Given the description of an element on the screen output the (x, y) to click on. 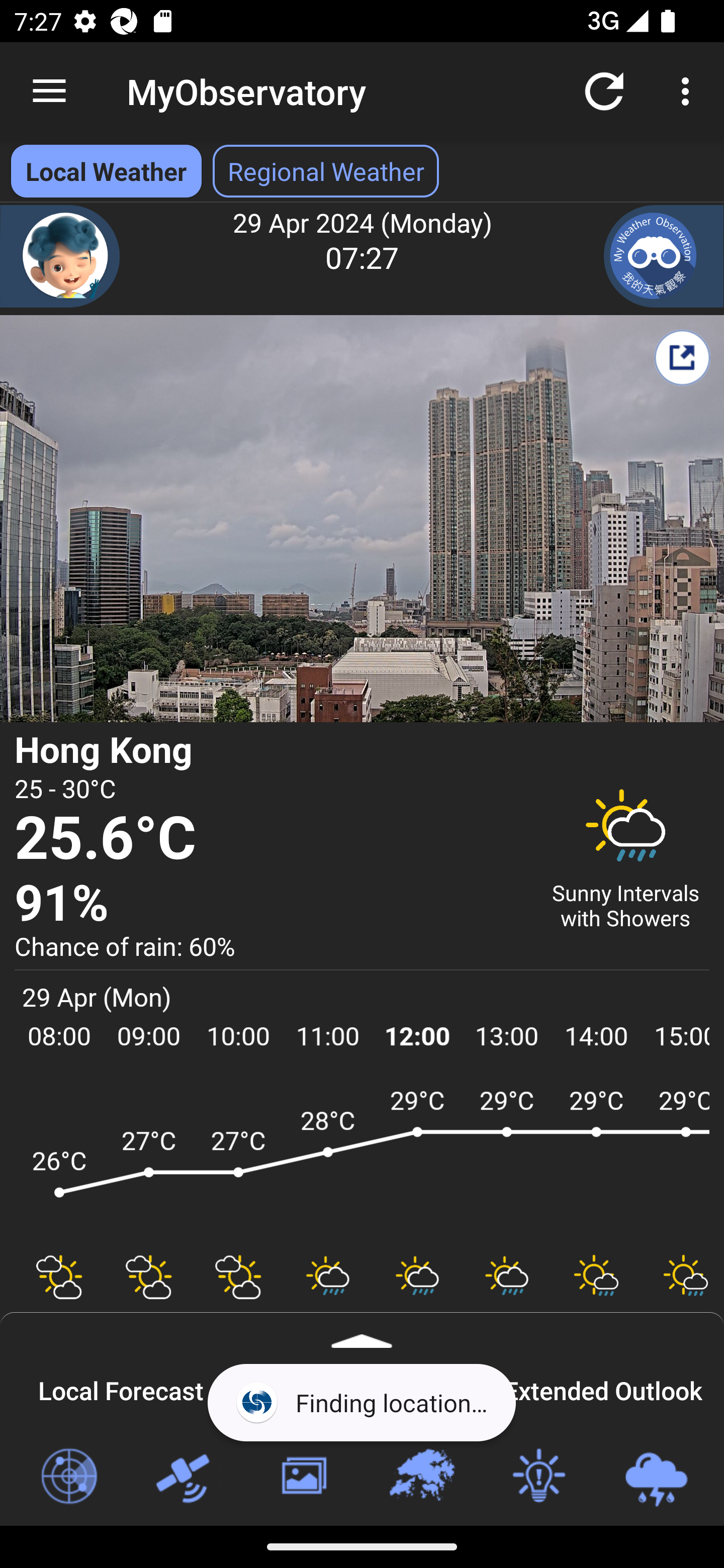
Navigate up (49, 91)
Refresh (604, 90)
More options (688, 90)
Local Weather Local Weather selected (105, 170)
Regional Weather Select Regional Weather (325, 170)
Chatbot (60, 256)
My Weather Observation (663, 256)
Share My Weather Report (681, 357)
25.6°C Temperature
25.6 degree Celsius (270, 839)
91% Relative Humidity
91 percent (270, 903)
ARWF (361, 1160)
Expand (362, 1330)
Local Forecast (120, 1387)
Extended Outlook (603, 1387)
Radar Images (68, 1476)
Satellite Images (185, 1476)
Weather Photos (302, 1476)
Regional Weather (420, 1476)
Weather Tips (537, 1476)
Loc-based Rain & Lightning Forecast (655, 1476)
